Given the description of an element on the screen output the (x, y) to click on. 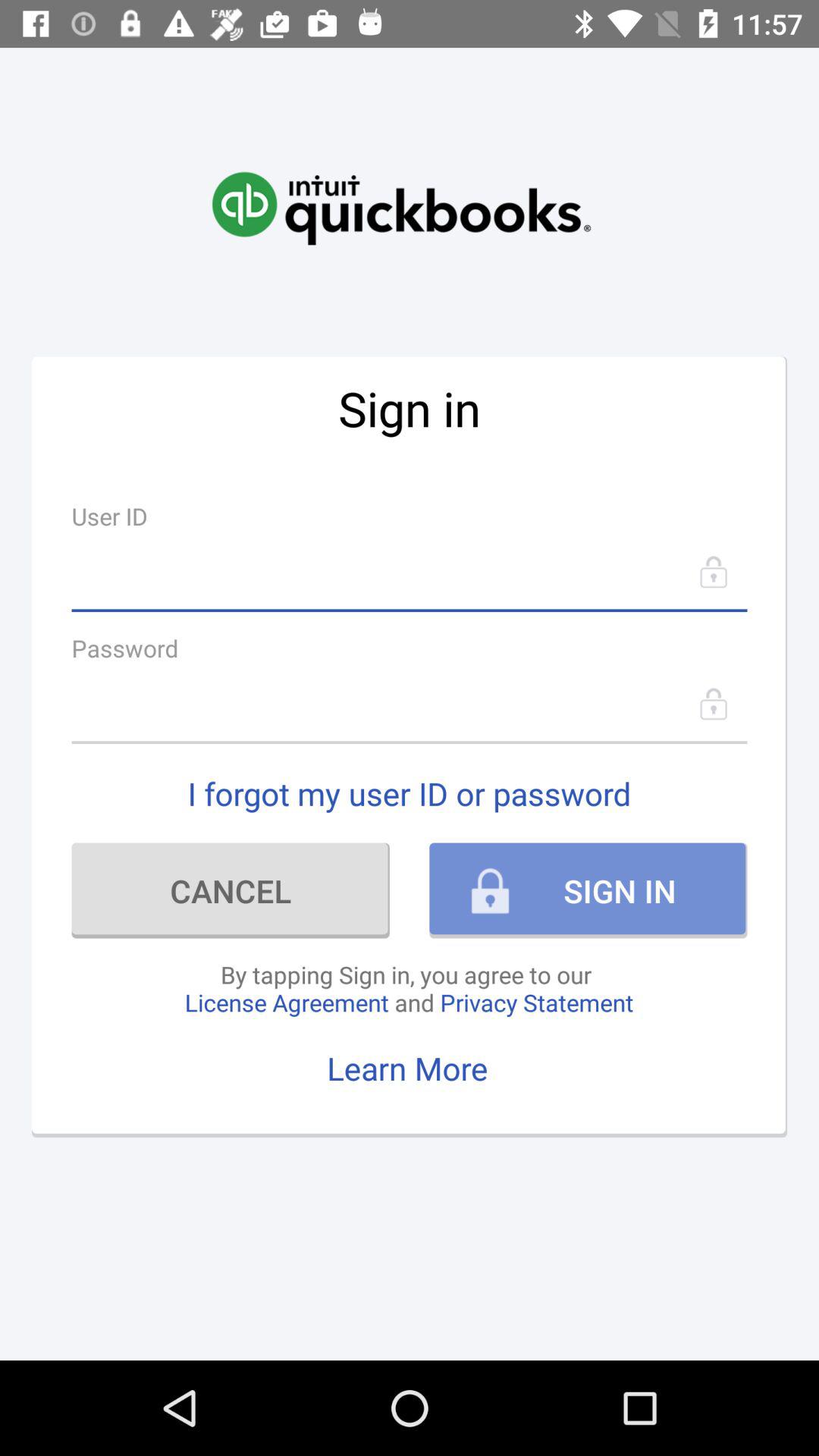
go back (409, 703)
